Given the description of an element on the screen output the (x, y) to click on. 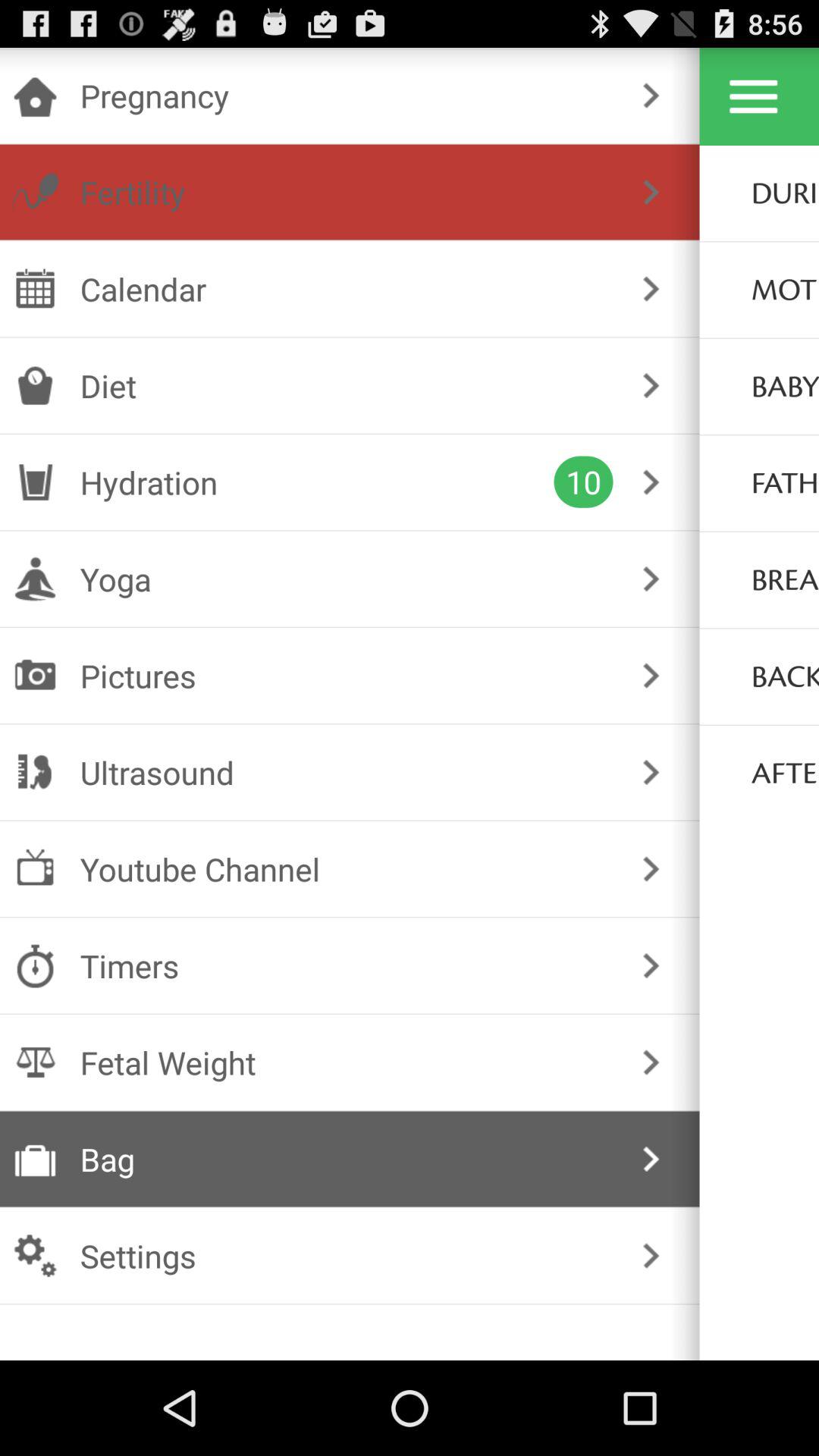
jump to fetal weight item (346, 1062)
